Given the description of an element on the screen output the (x, y) to click on. 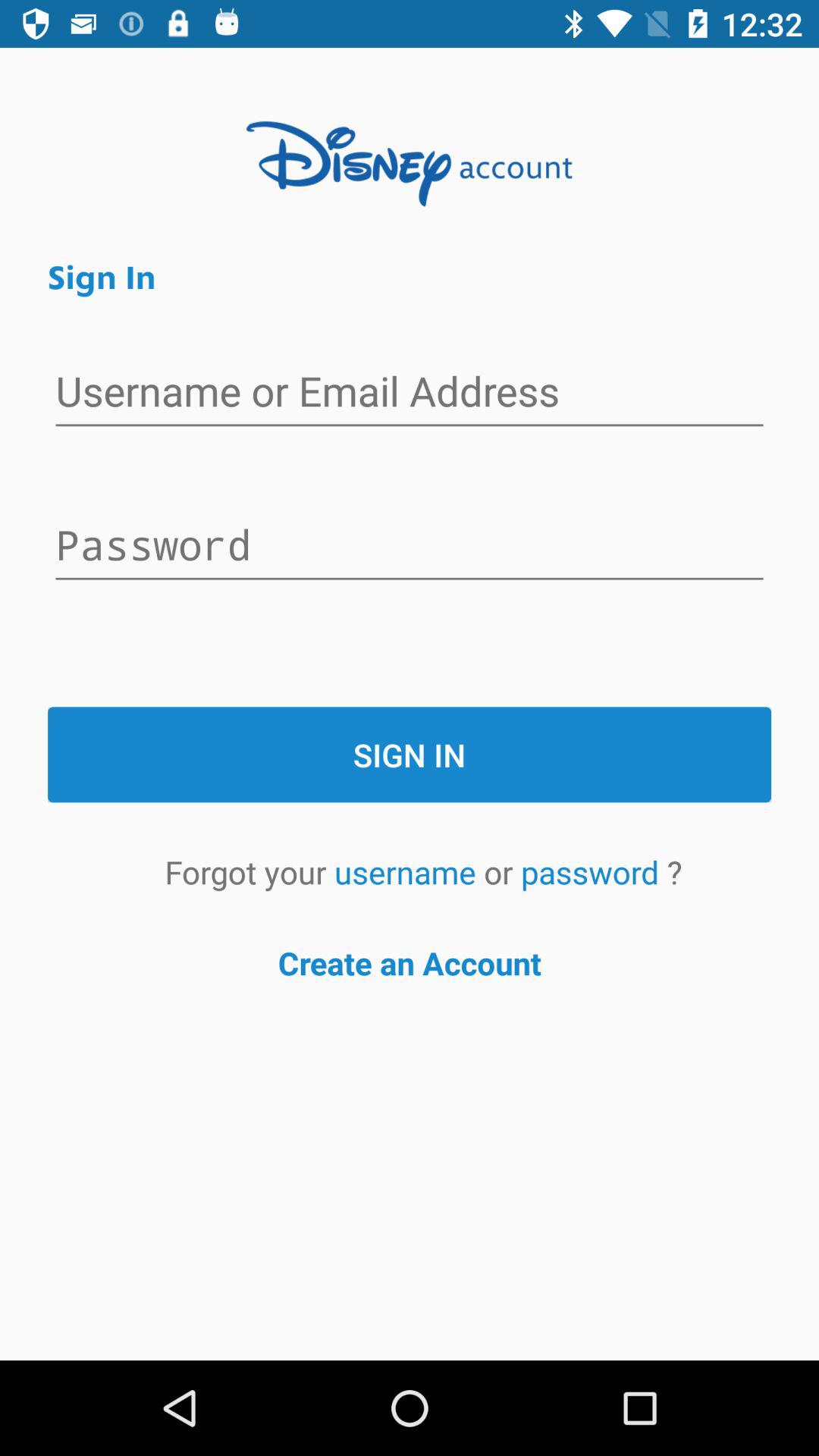
open field for email address (409, 393)
